Given the description of an element on the screen output the (x, y) to click on. 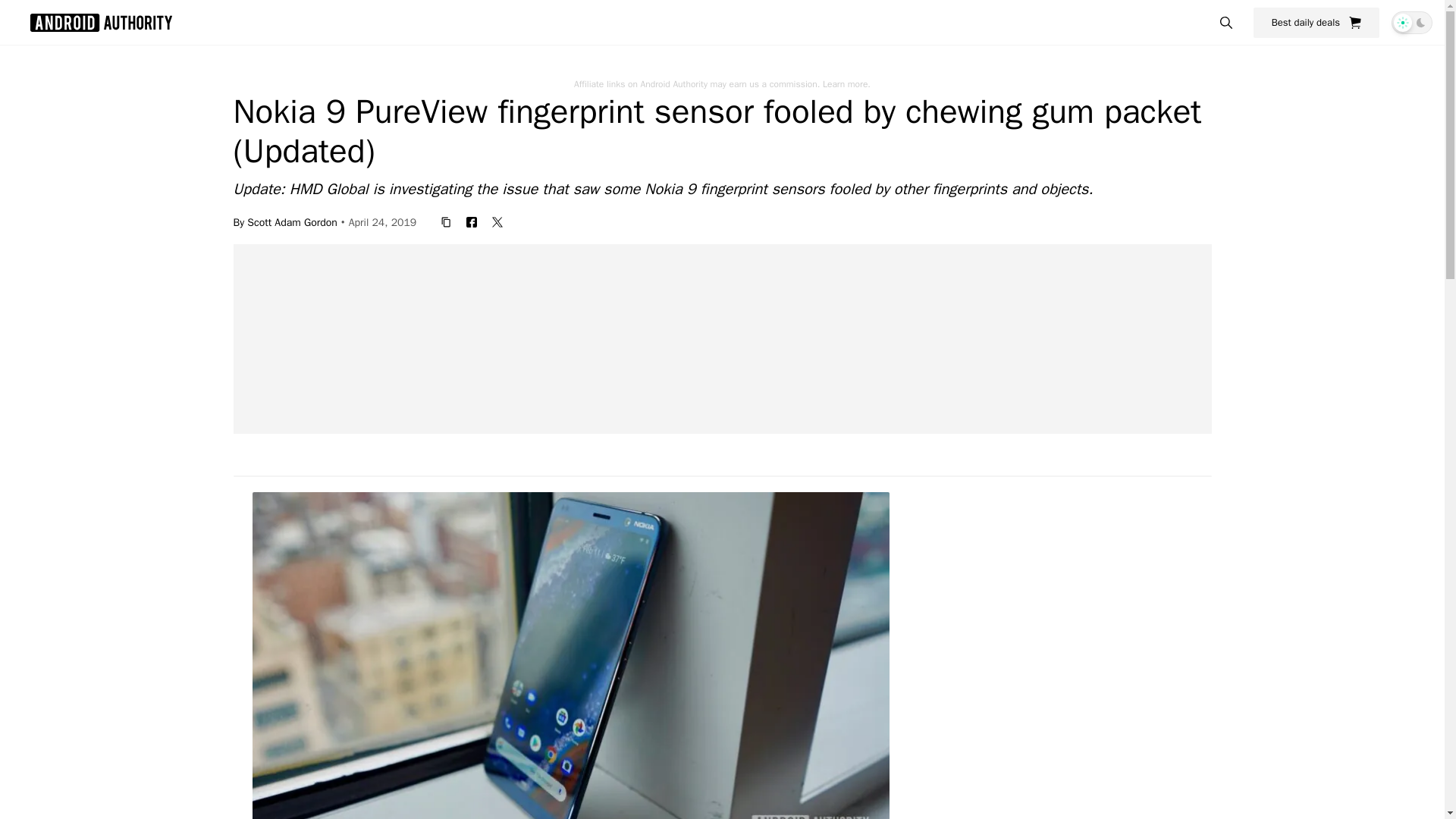
Best daily deals (1315, 22)
facebook (471, 222)
Learn more. (846, 83)
Scott Adam Gordon (292, 221)
twitter (497, 222)
